Given the description of an element on the screen output the (x, y) to click on. 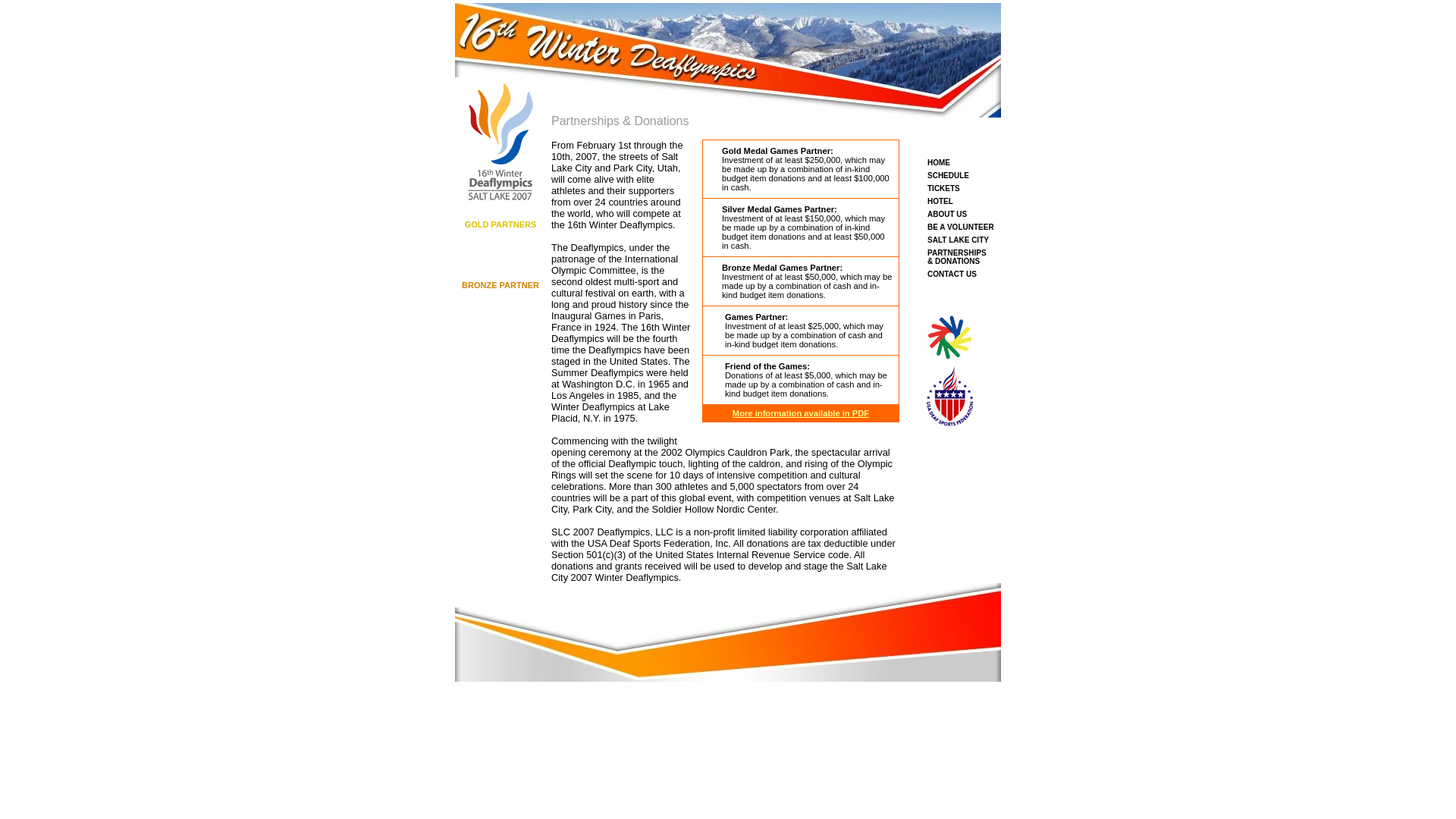
CSD logo Element type: hover (500, 232)
SCHEDULE Element type: text (948, 175)
SALT LAKE CITY Element type: text (957, 239)
TICKETS Element type: text (943, 188)
Sorenson VRS logo Element type: hover (500, 244)
2007 Winter Deaflympics logo Element type: hover (500, 141)
ABOUT US Element type: text (946, 214)
BE A VOLUNTEER Element type: text (960, 226)
DeafNation logo Element type: hover (500, 293)
HOTEL Element type: text (940, 201)
DEAFLYMPICS logo Element type: hover (950, 336)
USADSF logo Element type: hover (949, 395)
CONTACT US Element type: text (951, 273)
More information available in PDF Element type: text (800, 412)
HOME Element type: text (938, 162)
PARTNERSHIPS
& DONATIONS Element type: text (956, 256)
